Given the description of an element on the screen output the (x, y) to click on. 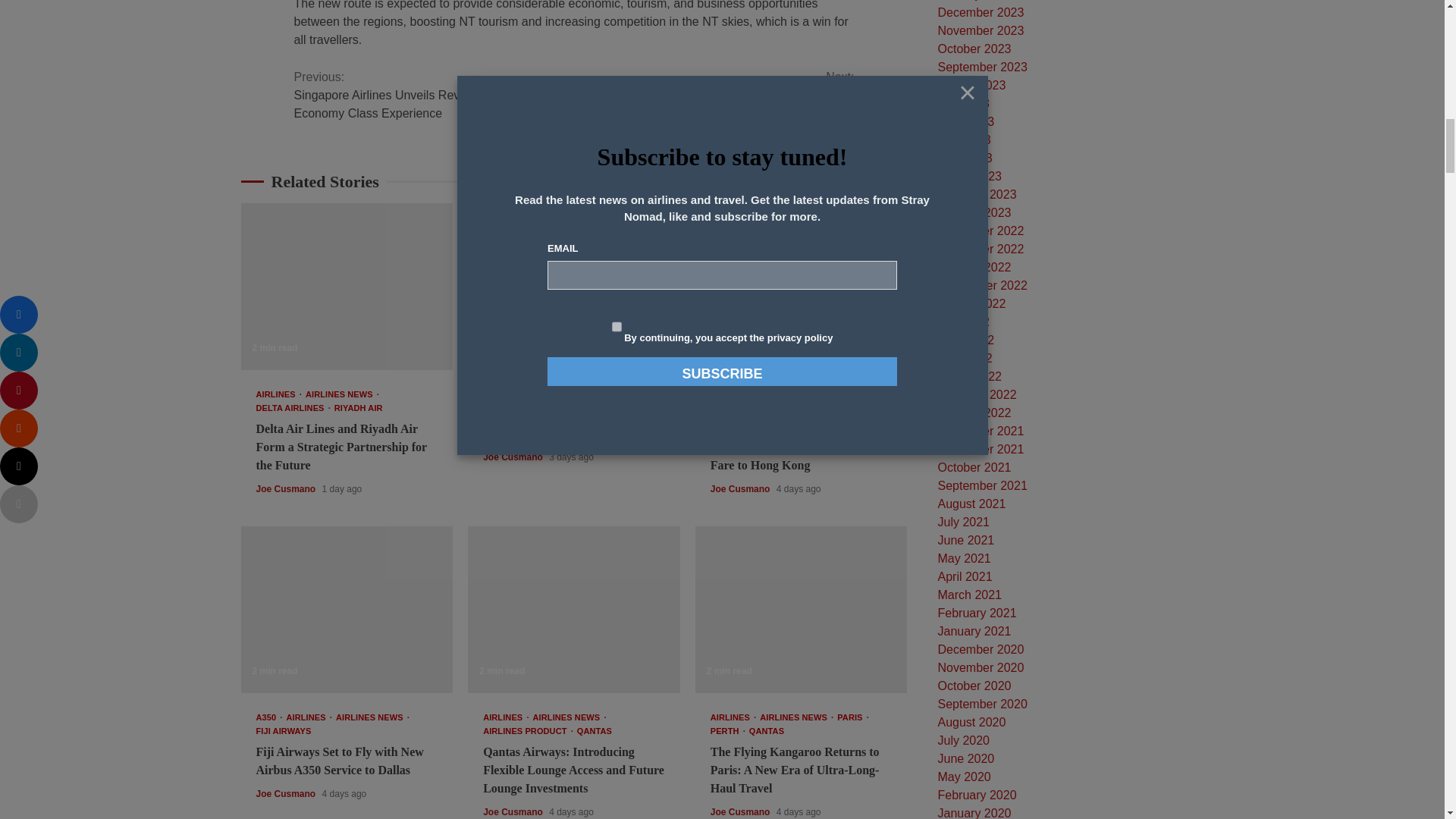
ETIHAD (626, 394)
Etihad Airways: Elevating North American Travel Experience (573, 286)
AIRLINES (278, 394)
AIRLINES NEWS (569, 394)
AIRLINES NEWS (341, 394)
Joe Cusmano (287, 489)
RIYADH AIR (358, 408)
AIRLINES (505, 394)
DELTA AIRLINES (293, 408)
